Given the description of an element on the screen output the (x, y) to click on. 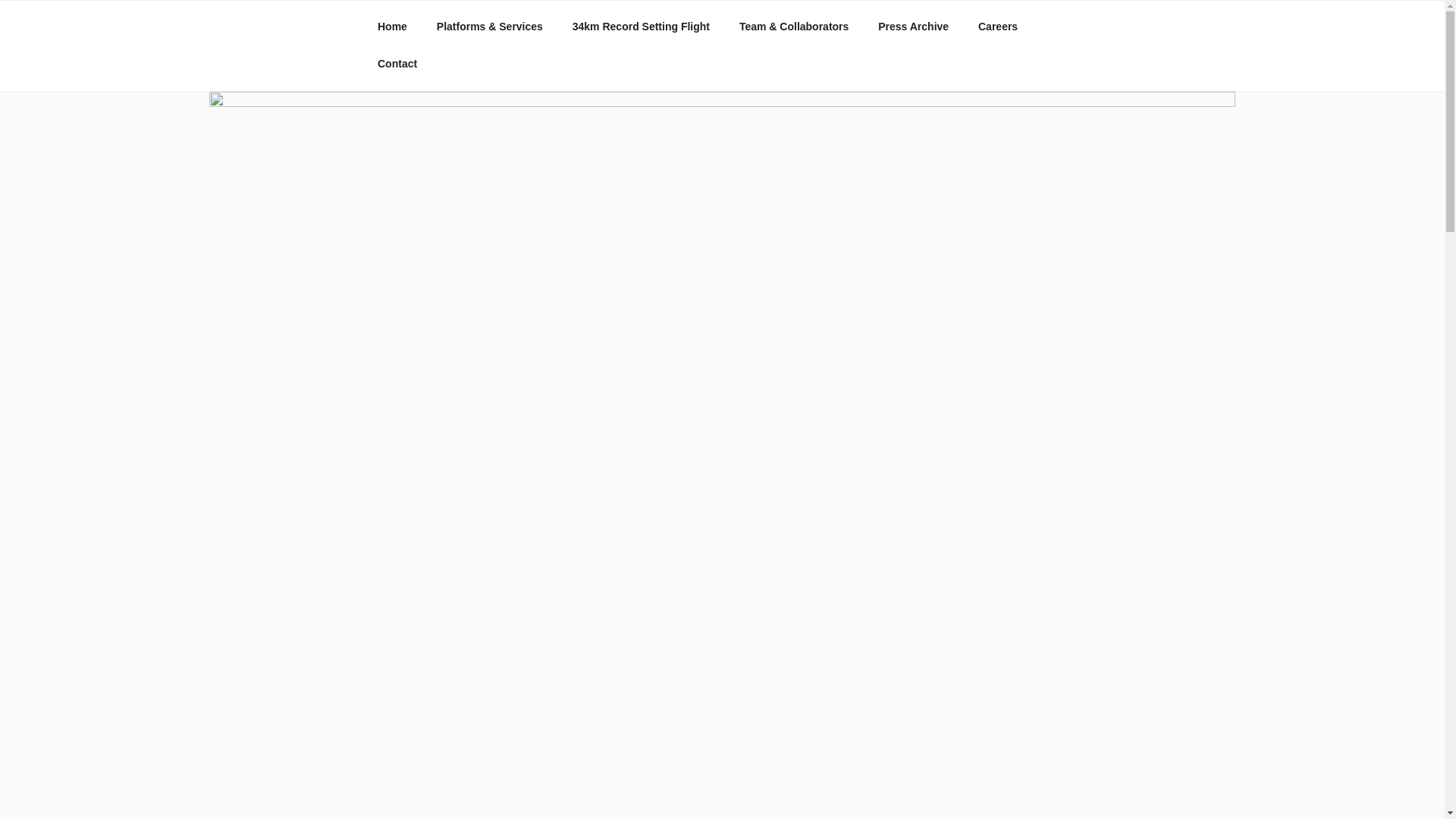
Home (392, 26)
34km Record Setting Flight (640, 26)
Contact (396, 63)
Careers (996, 26)
Press Archive (913, 26)
